Given the description of an element on the screen output the (x, y) to click on. 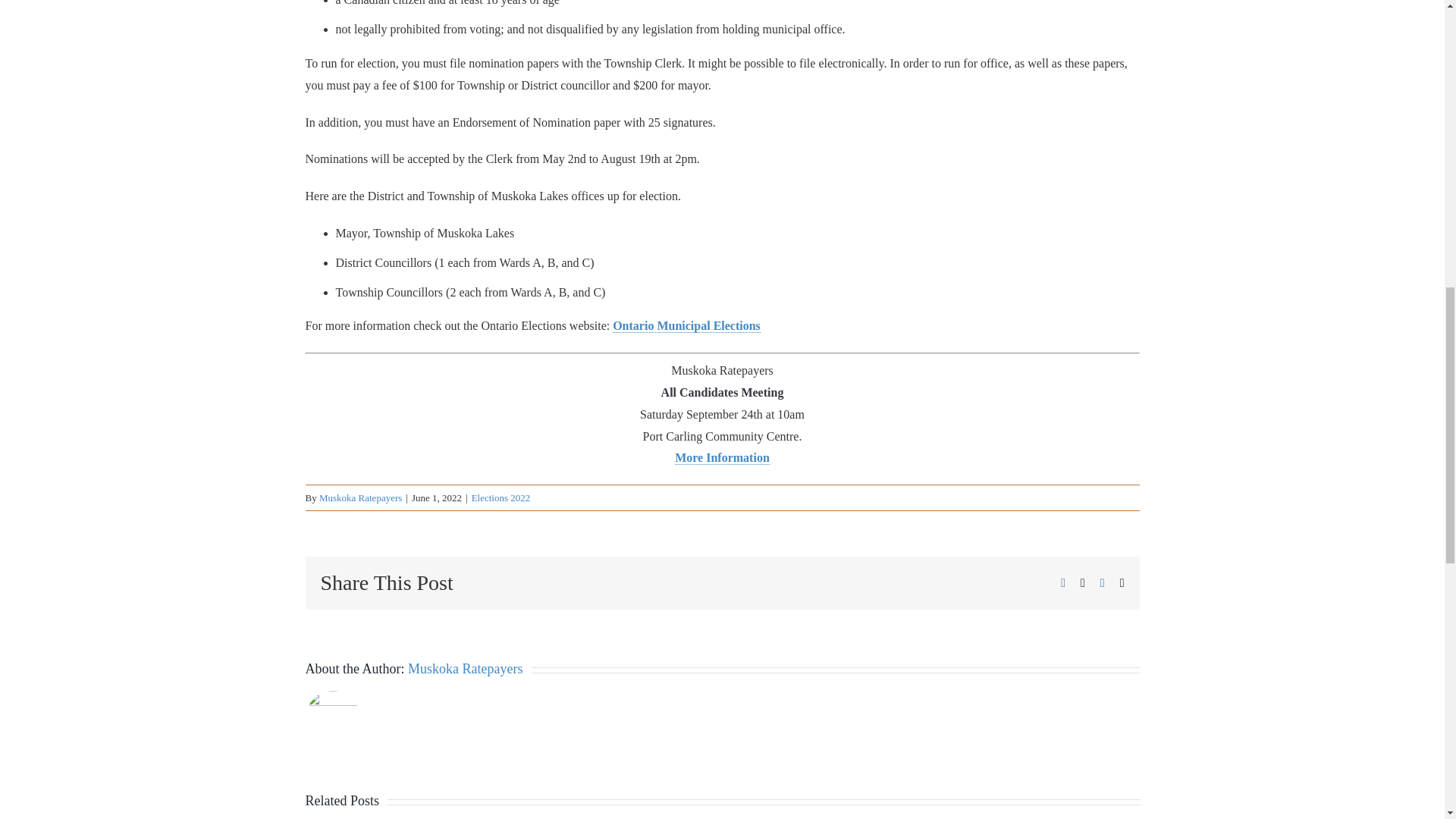
Posts by Muskoka Ratepayers (464, 668)
Posts by Muskoka Ratepayers (359, 497)
